Given the description of an element on the screen output the (x, y) to click on. 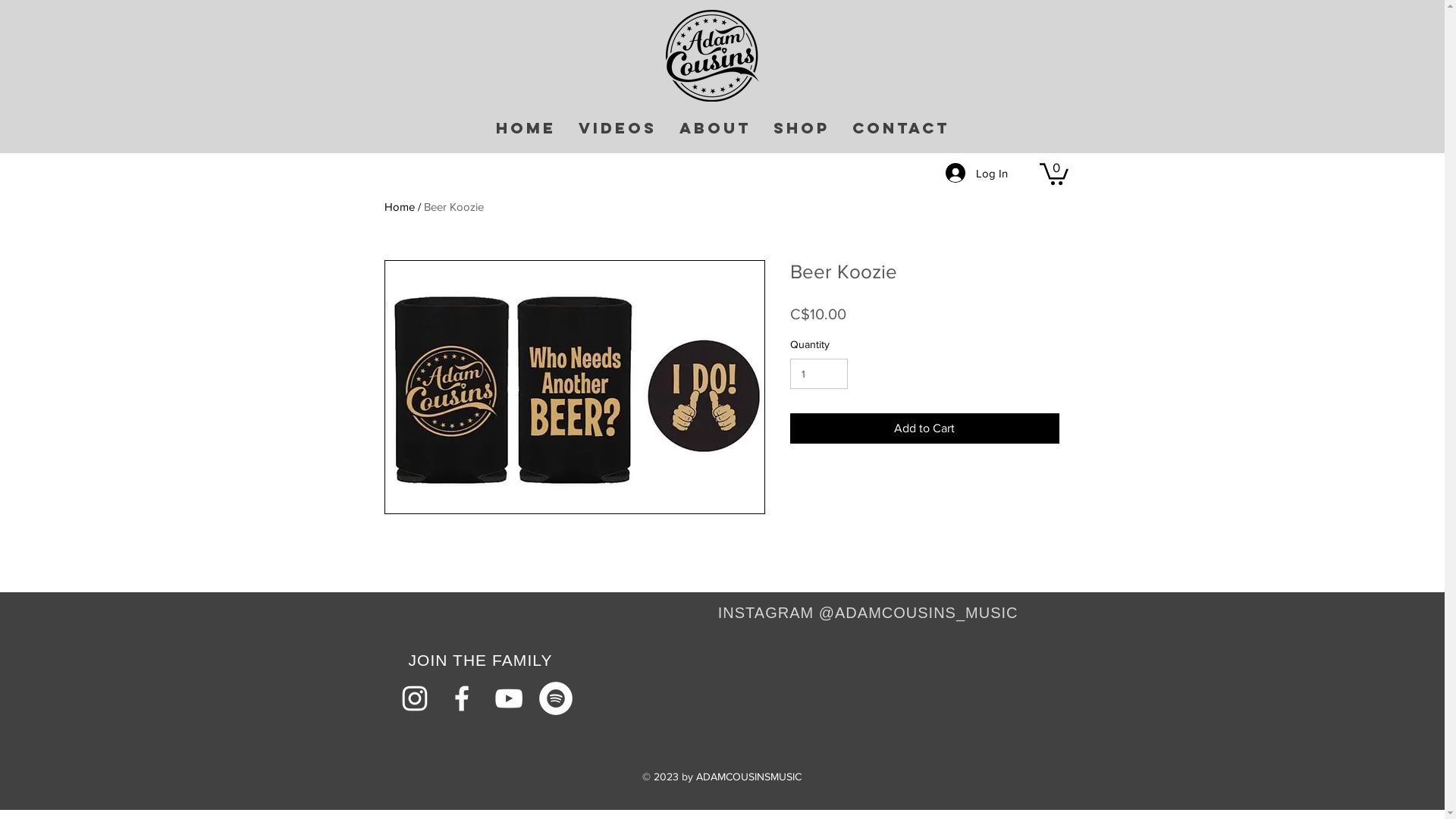
0 Element type: text (1052, 172)
Home Element type: text (398, 206)
Log In Element type: text (975, 172)
Videos Element type: text (617, 127)
Contact Element type: text (900, 127)
Home Element type: text (524, 127)
About Element type: text (714, 127)
Shop Element type: text (800, 127)
Add to Cart Element type: text (924, 428)
